Given the description of an element on the screen output the (x, y) to click on. 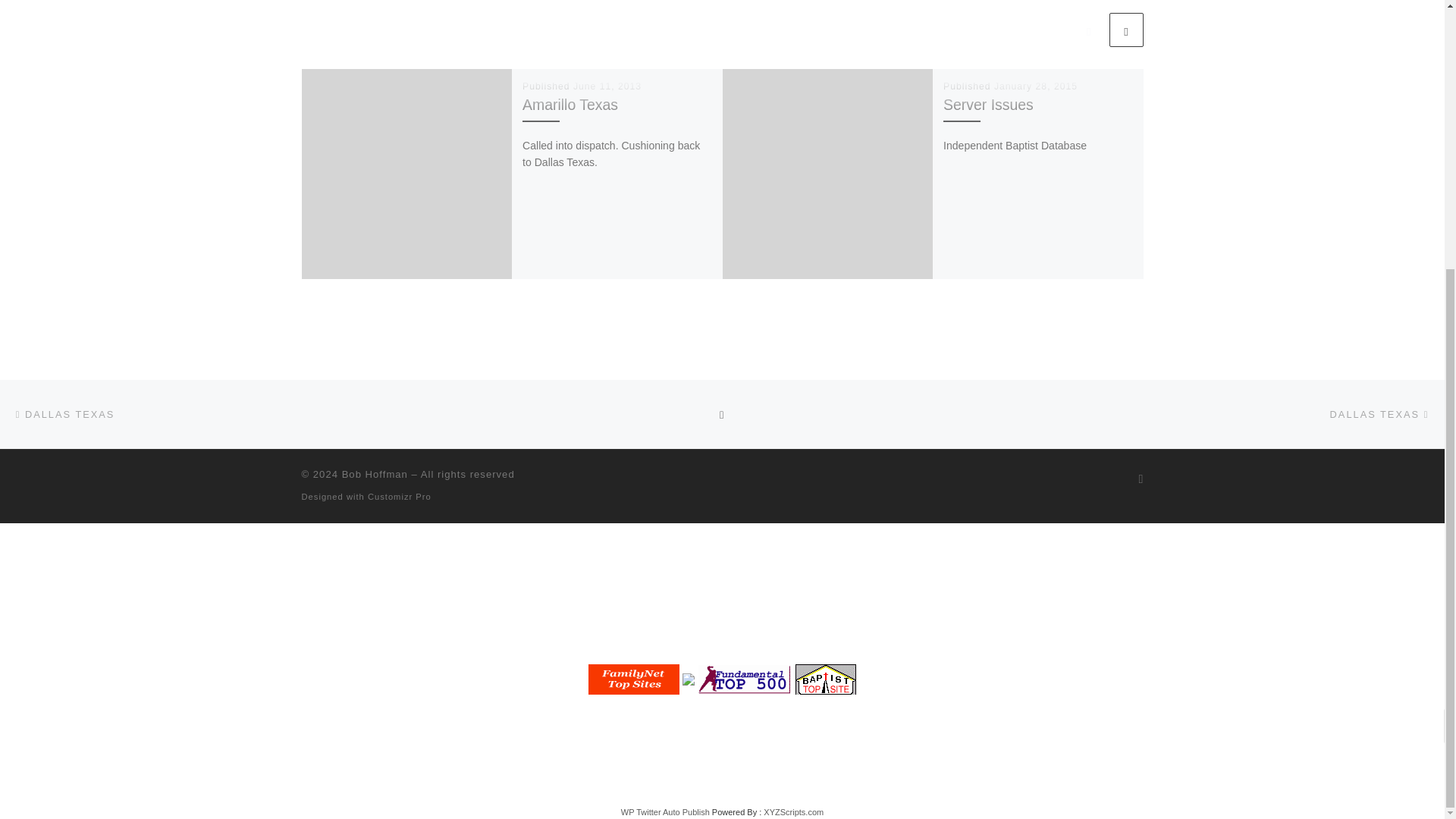
Back to post list (722, 413)
WP Twitter Auto Publish (665, 811)
Customizr Pro (399, 496)
Bob Hoffman (374, 473)
Previous related articles (1088, 29)
Next related articles (1125, 29)
Subscribe to my rss feed (1140, 478)
